Given the description of an element on the screen output the (x, y) to click on. 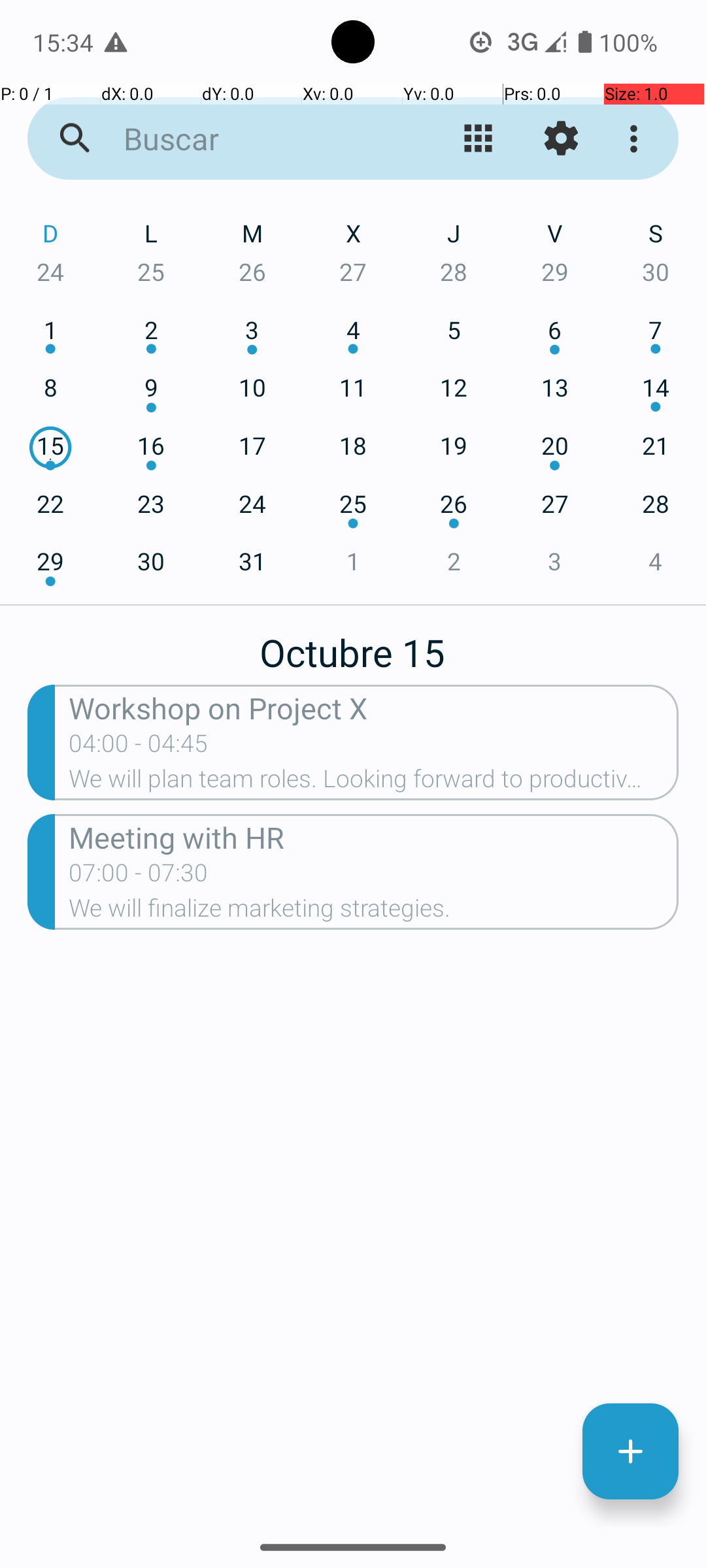
Octubre 15 Element type: android.widget.TextView (352, 644)
Workshop on Project X Element type: android.widget.TextView (373, 706)
04:00 - 04:45 Element type: android.widget.TextView (137, 747)
We will plan team roles. Looking forward to productive discussions. Element type: android.widget.TextView (373, 782)
Meeting with HR Element type: android.widget.TextView (373, 836)
07:00 - 07:30 Element type: android.widget.TextView (137, 876)
We will finalize marketing strategies. Element type: android.widget.TextView (373, 911)
